Given the description of an element on the screen output the (x, y) to click on. 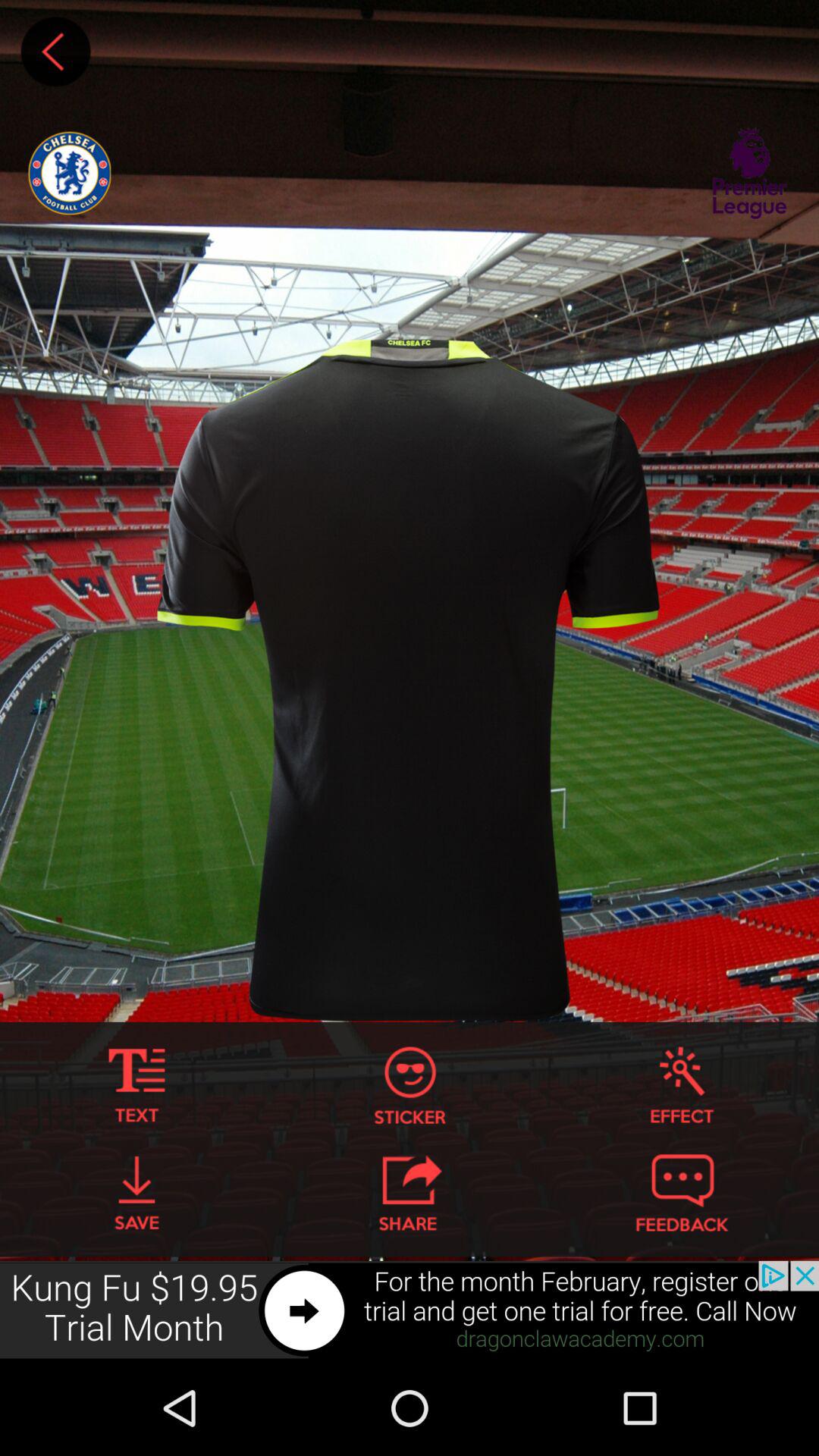
add effects (682, 1085)
